Given the description of an element on the screen output the (x, y) to click on. 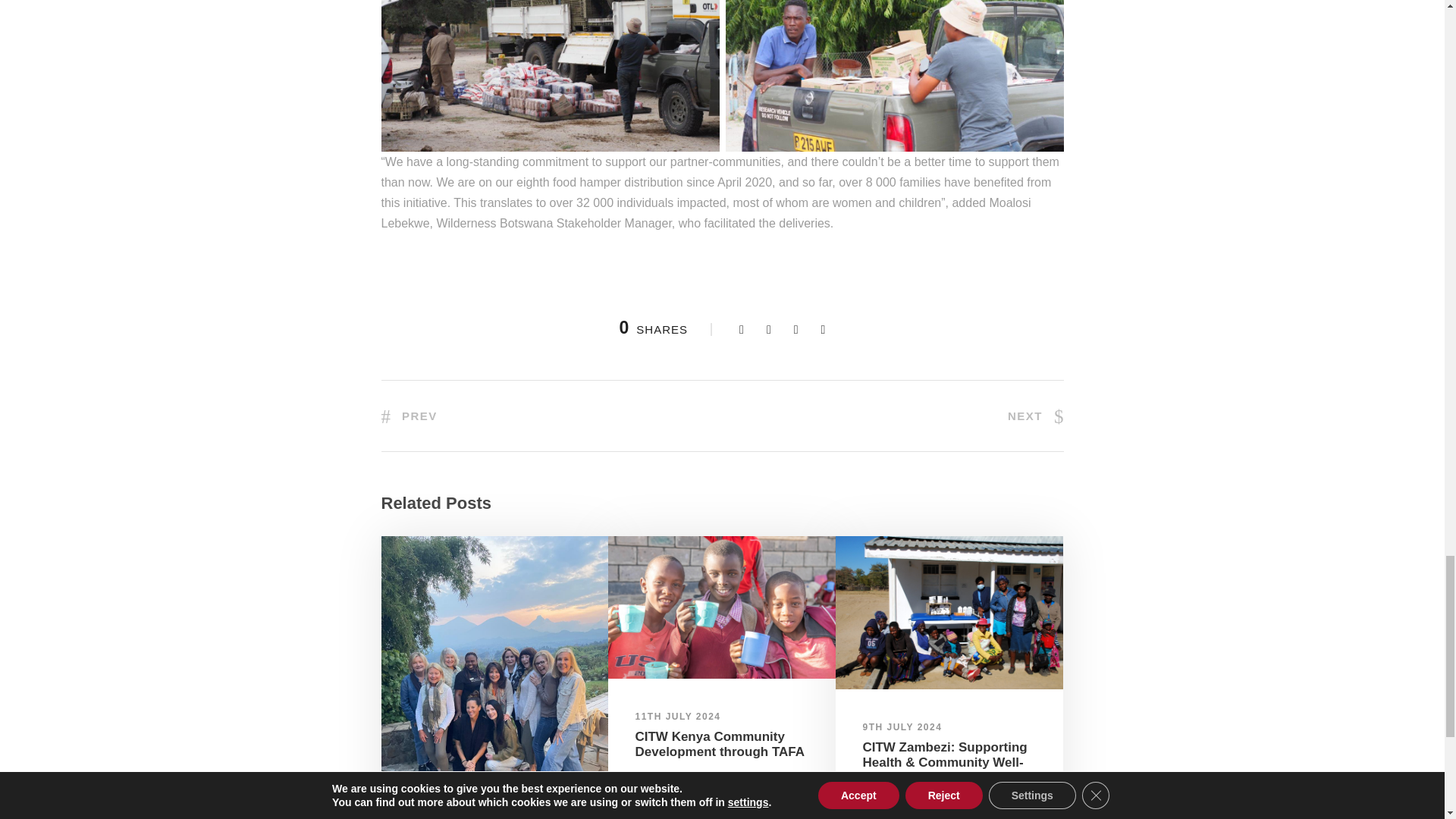
Tafa UJI 11 (721, 607)
